Given the description of an element on the screen output the (x, y) to click on. 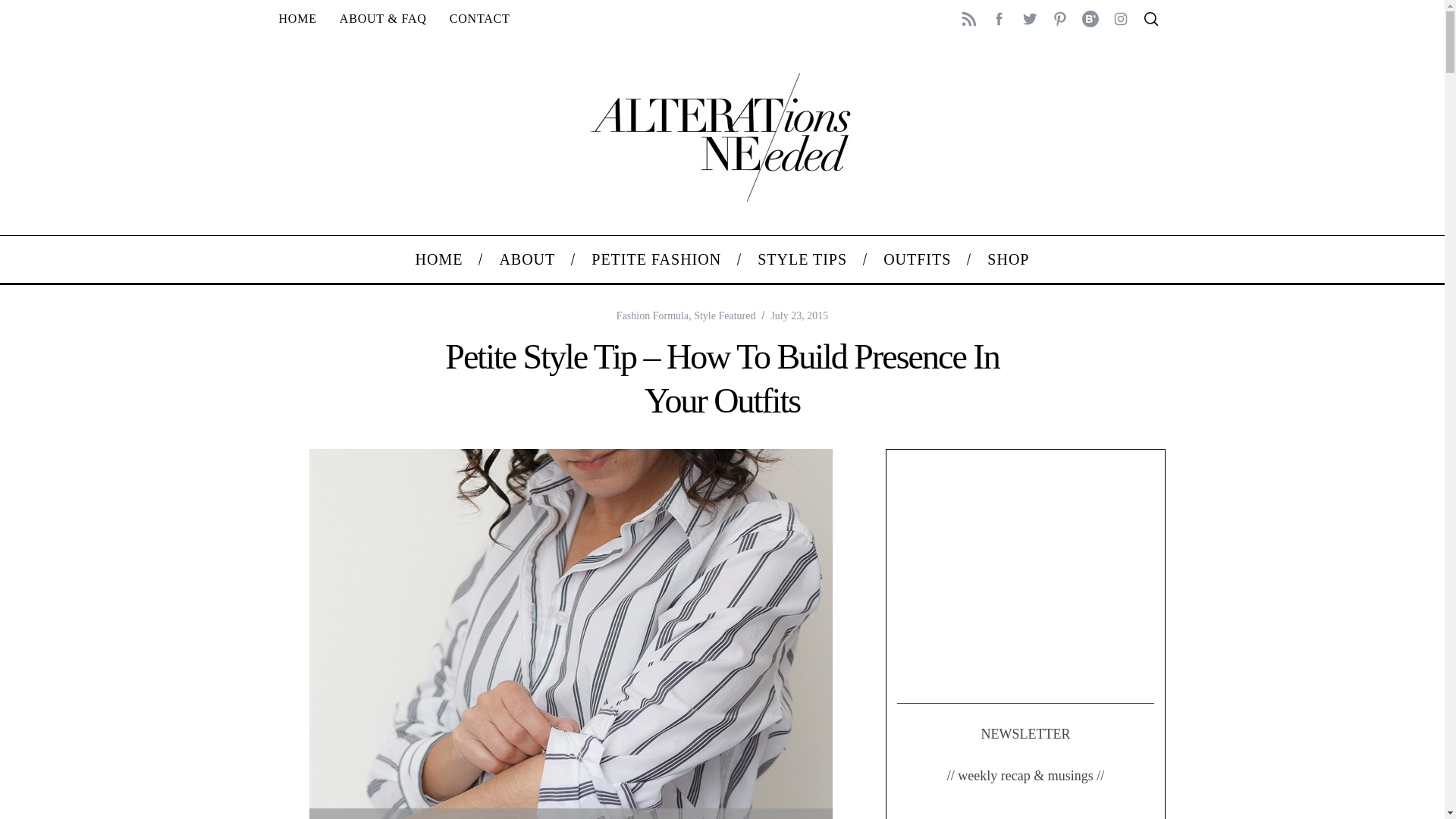
SHOP (1007, 258)
PETITE FASHION (656, 258)
Fashion Formula (651, 315)
Style Featured (724, 315)
ABOUT (526, 258)
HOME (439, 258)
STYLE TIPS (801, 258)
HOME (296, 18)
CONTACT (479, 18)
OUTFITS (916, 258)
